Given the description of an element on the screen output the (x, y) to click on. 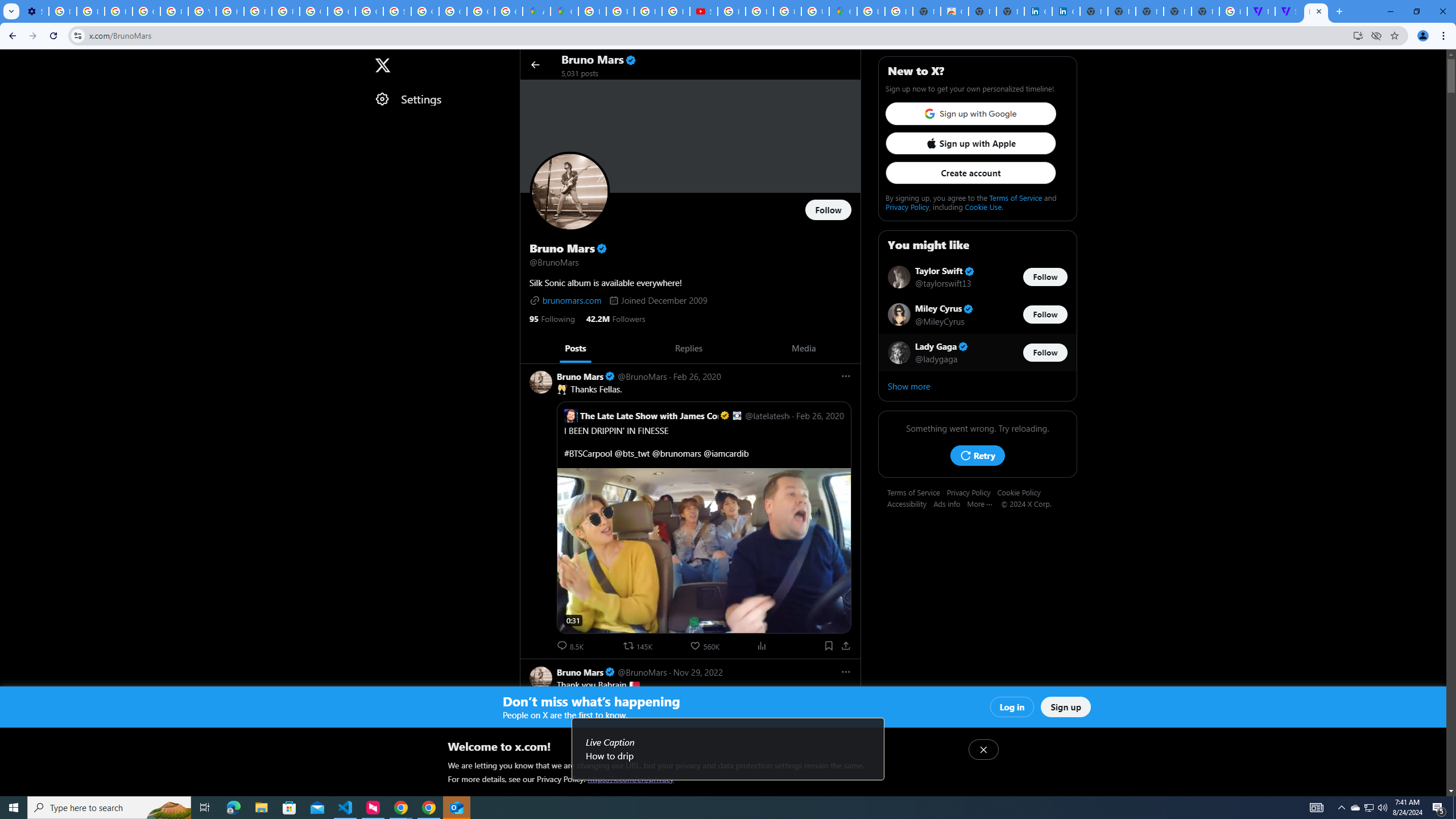
8535 Replies. Reply (571, 645)
Feb 26, 2020 (696, 376)
Opens profile photo (569, 191)
New Tab (1338, 11)
Log in (1012, 706)
Settings - Customize profile (34, 11)
Google Account Help (146, 11)
Sign up (1065, 706)
Taylor Swift Verified account (945, 271)
Blogger Policies and Guidelines - Transparency Center (592, 11)
Settings (441, 99)
Miley Cyrus Verified account (944, 308)
Replies (688, 347)
Cookie Policy (1022, 492)
